Given the description of an element on the screen output the (x, y) to click on. 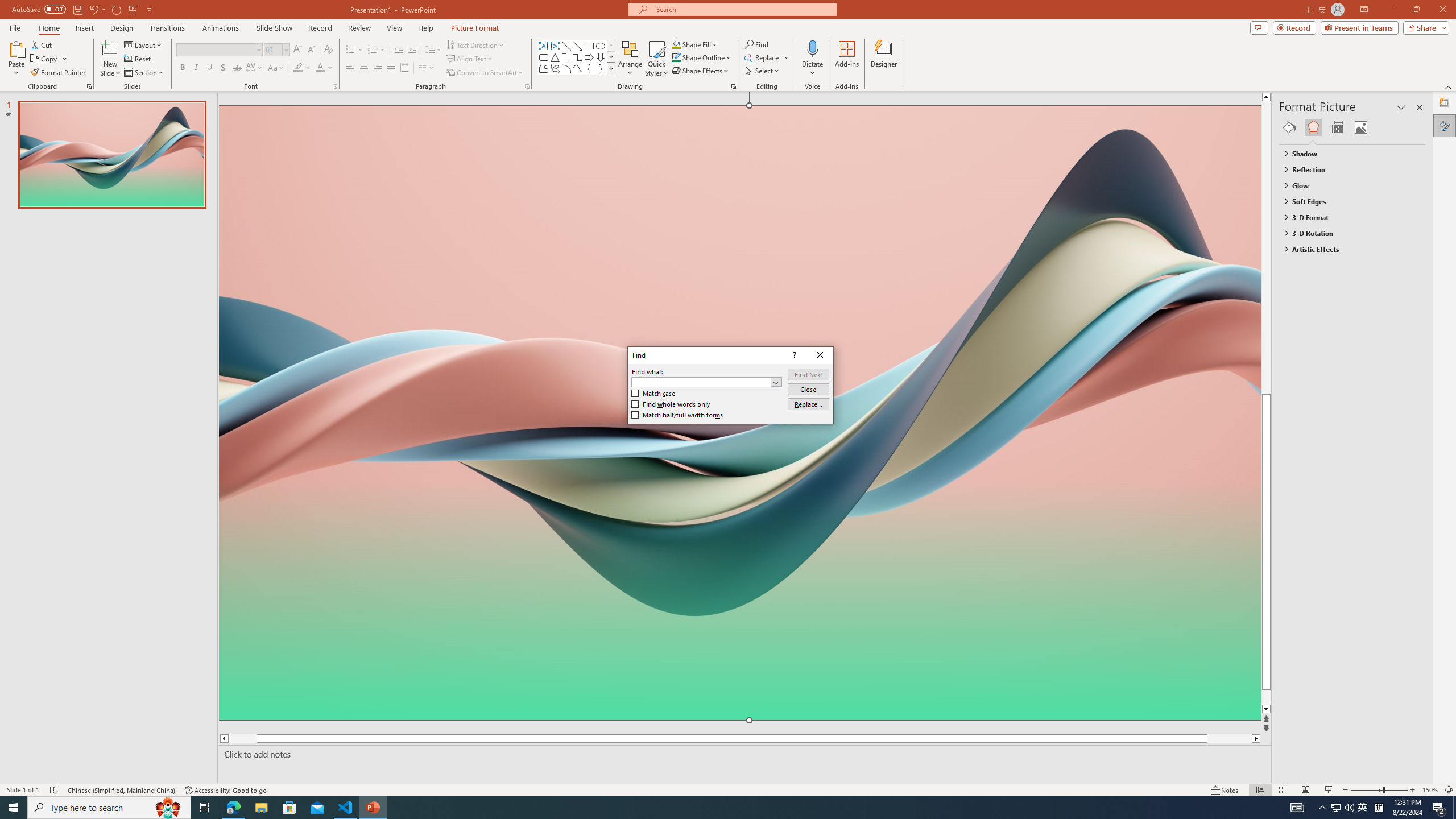
Line Arrow (577, 45)
Rectangle (589, 45)
Picture Format (475, 28)
Rectangle: Rounded Corners (543, 57)
Action Center, 2 new notifications (1439, 807)
Find... (756, 44)
Find what (706, 381)
Align Left (349, 67)
Right Brace (600, 68)
Task View (204, 807)
AutomationID: ShapesInsertGallery (576, 57)
